Given the description of an element on the screen output the (x, y) to click on. 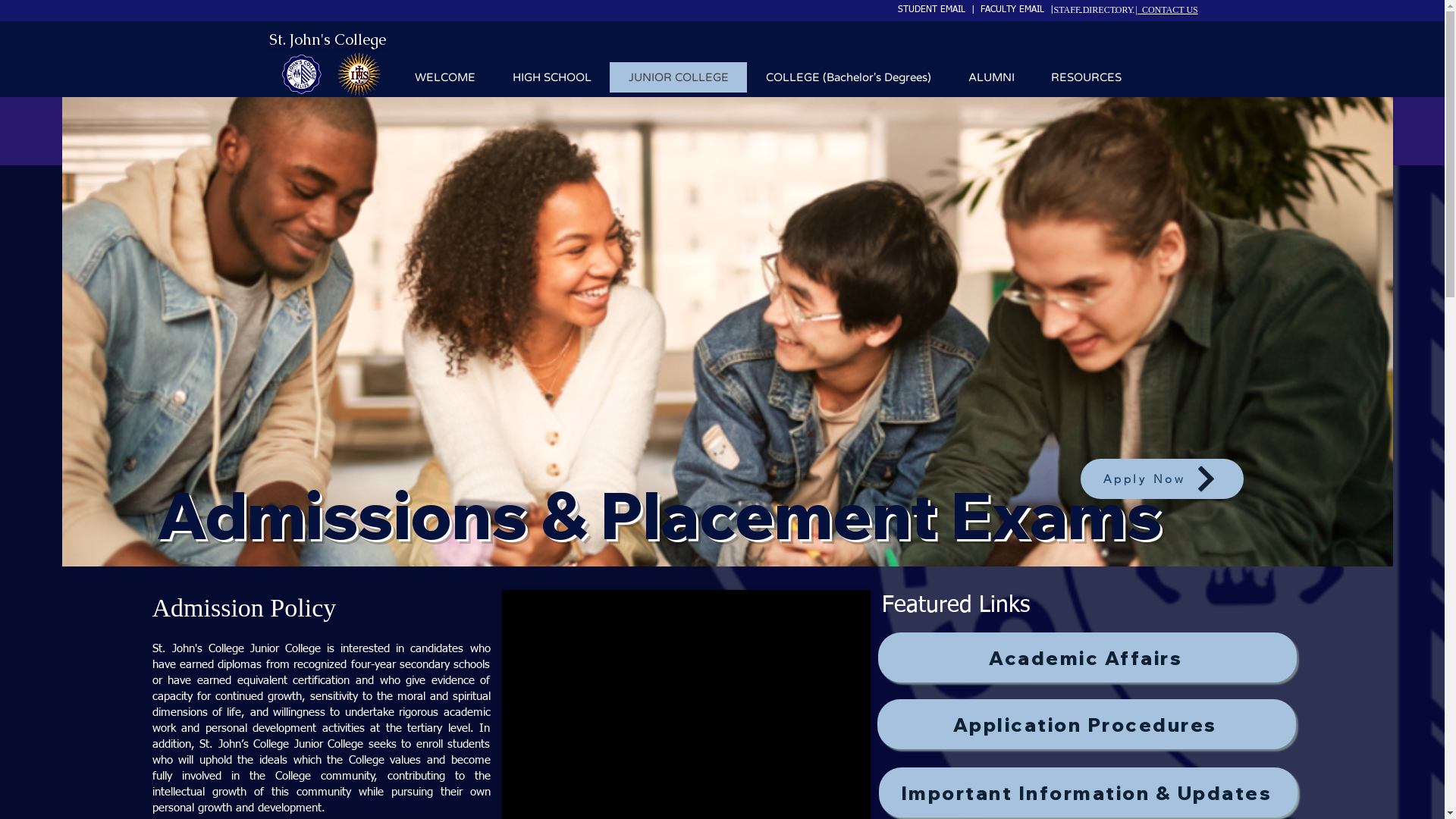
STAFF DIRECTORY Element type: text (1094, 9)
STUDENT EMAIL   Element type: text (934, 9)
Important Information & Updates Element type: text (1087, 792)
FACULTY EMAIL  | Element type: text (1016, 9)
WELCOME Element type: text (443, 77)
JUNIOR COLLEGE Element type: text (677, 77)
|  CONTACT US Element type: text (1166, 9)
SJC Photo (10).png Element type: hover (357, 74)
Apply Now Element type: text (1160, 478)
RESOURCES Element type: text (1085, 77)
Academic Affairs Element type: text (1087, 657)
Website graphics.jpg Element type: hover (300, 75)
ALUMNI Element type: text (990, 77)
HIGH SCHOOL Element type: text (550, 77)
COLLEGE (Bachelor's Degrees) Element type: text (847, 77)
Application Procedures Element type: text (1085, 724)
